Given the description of an element on the screen output the (x, y) to click on. 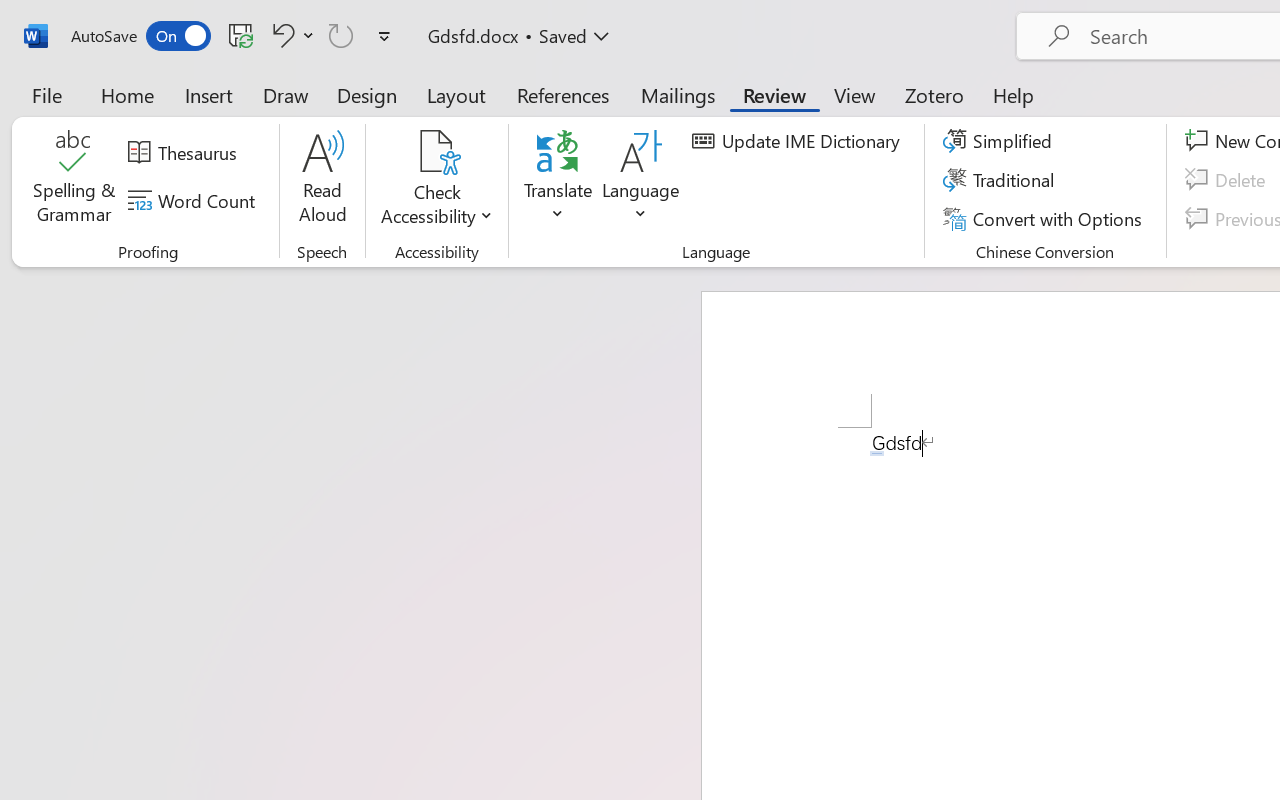
Check Accessibility (436, 151)
Read Aloud (322, 179)
Spelling & Grammar (74, 180)
Undo AutoCorrect (290, 35)
Can't Repeat (341, 35)
Update IME Dictionary... (799, 141)
Check Accessibility (436, 179)
